Given the description of an element on the screen output the (x, y) to click on. 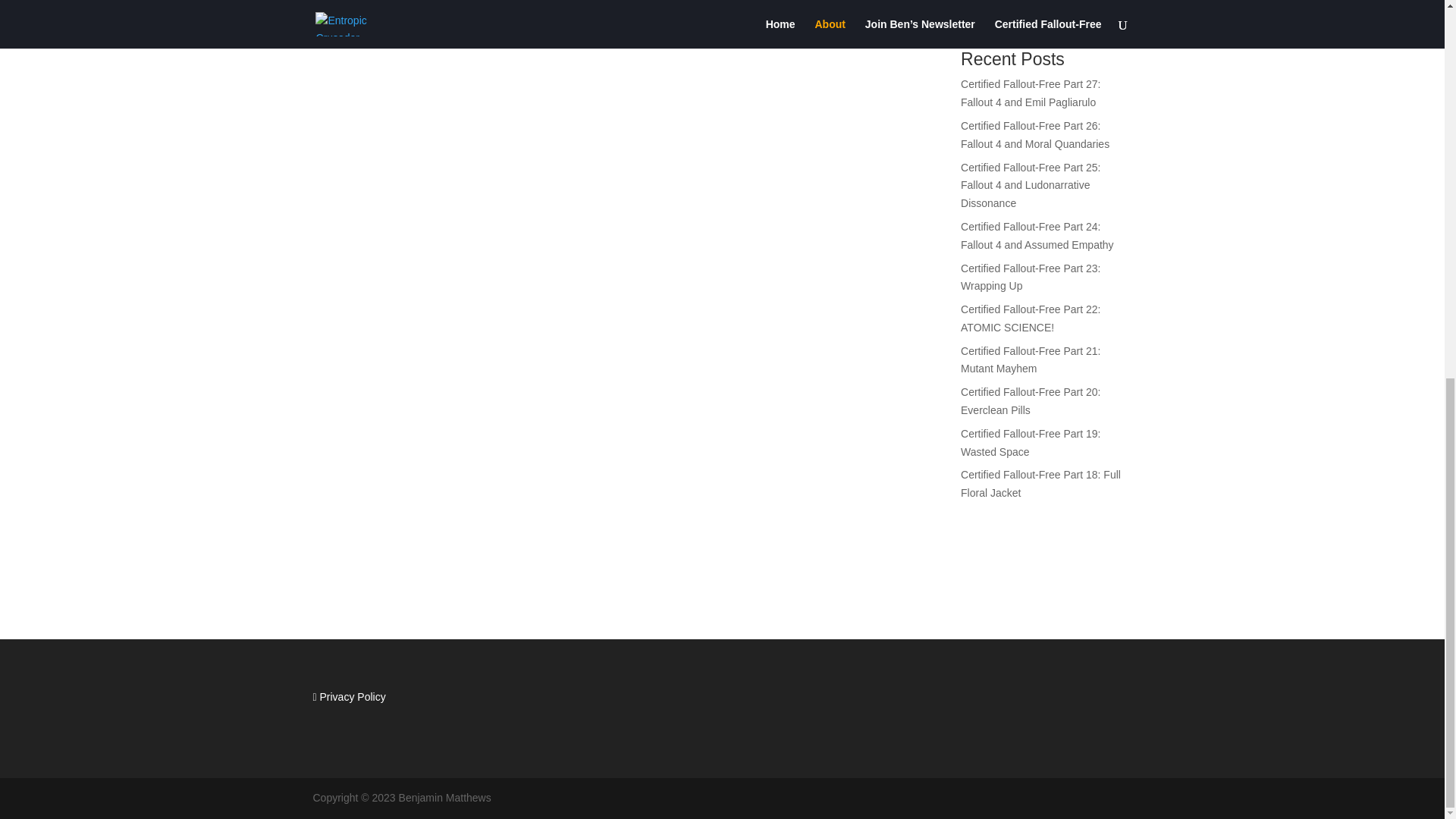
Certified Fallout-Free Part 22: ATOMIC SCIENCE! (1030, 318)
Certified Fallout-Free Part 20: Everclean Pills (1030, 400)
Certified Fallout-Free Part 23: Wrapping Up (1030, 276)
UrbanFantasy (994, 1)
Certified Fallout-Free Part 18: Full Floral Jacket (1040, 483)
Certified Fallout-Free Part 21: Mutant Mayhem (1030, 359)
Certified Fallout-Free Part 19: Wasted Space (1030, 442)
